Given the description of an element on the screen output the (x, y) to click on. 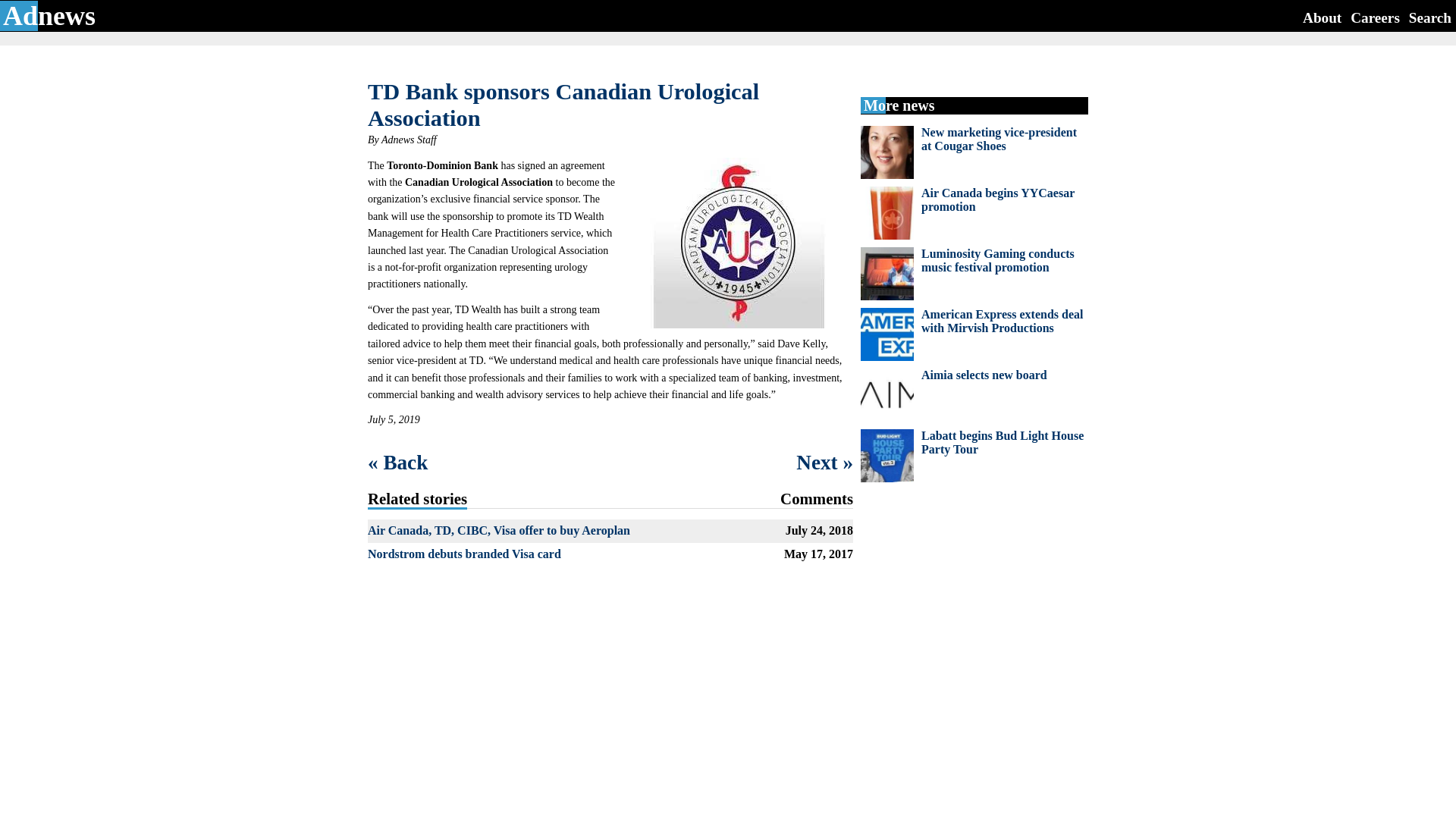
About (1321, 17)
Air Canada, TD, CIBC, Visa offer to buy Aeroplan (499, 530)
Aimia selects new board (983, 374)
Air Canada begins YYCaesar promotion (997, 199)
Nordstrom debuts branded Visa card (464, 553)
Labatt begins Bud Light House Party Tour (1002, 442)
American Express extends deal with Mirvish Productions (1002, 320)
Careers (1375, 17)
New marketing vice-president at Cougar Shoes (999, 139)
Search (1430, 17)
Luminosity Gaming conducts music festival promotion (997, 260)
